Given the description of an element on the screen output the (x, y) to click on. 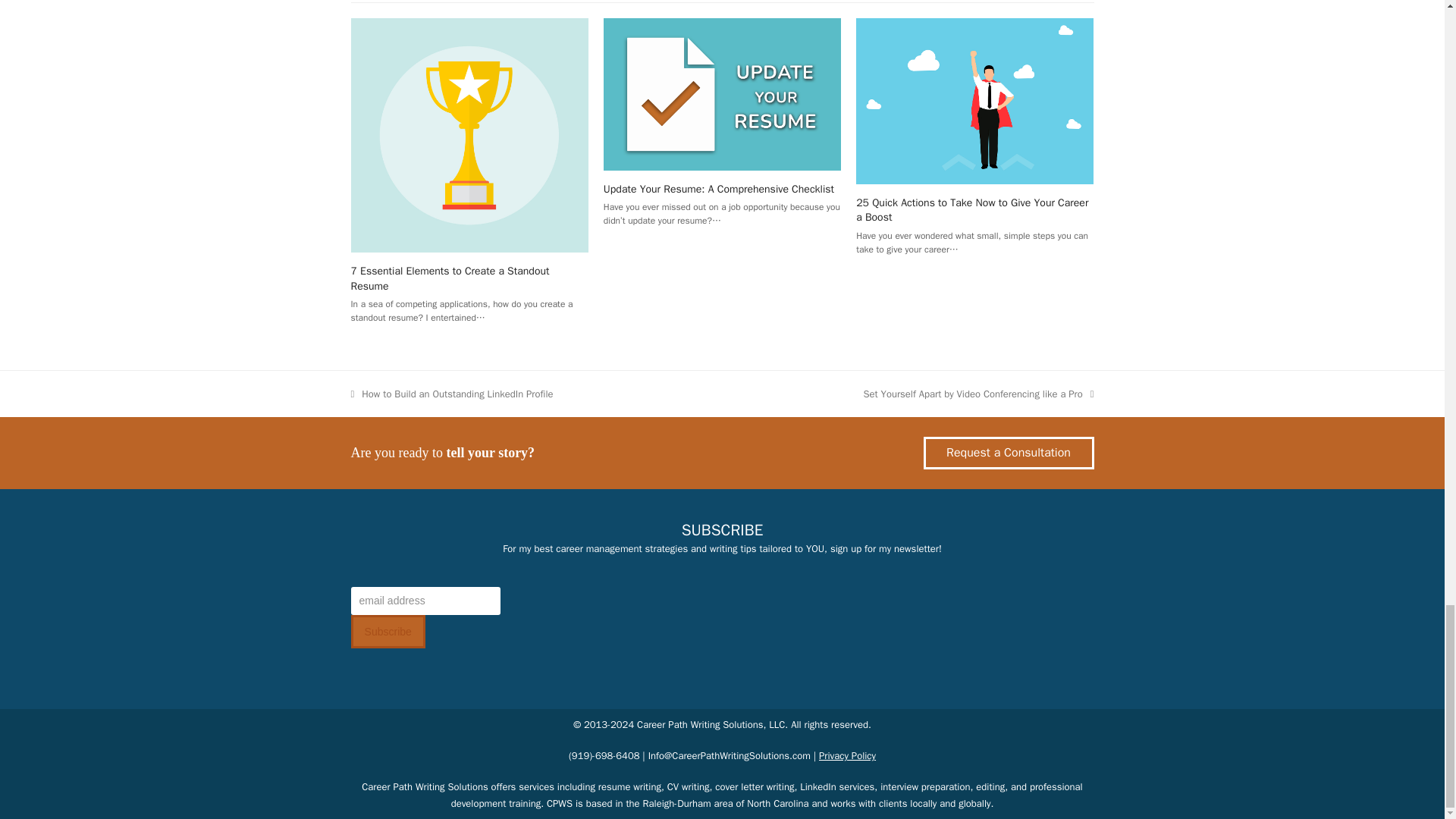
Subscribe (387, 631)
7 Essential Elements to Create a Standout Resume (469, 133)
Update Your Resume: A Comprehensive Checklist (722, 92)
7 Essential Elements to Create a Standout Resume (449, 277)
25 Quick Actions to Take Now to Give Your Career a Boost (974, 100)
